Given the description of an element on the screen output the (x, y) to click on. 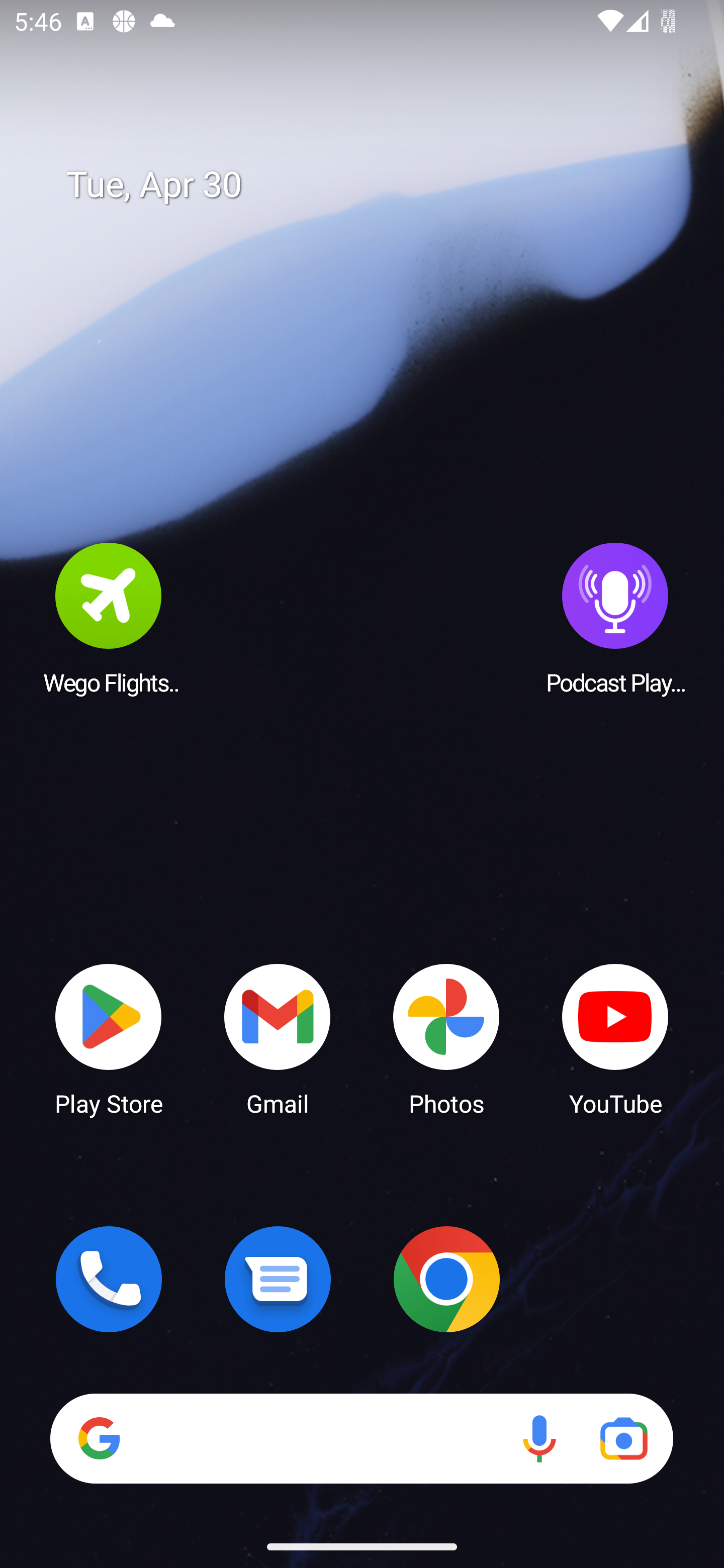
Tue, Apr 30 (375, 184)
Wego Flights & Hotels (108, 617)
Podcast Player (615, 617)
Play Store (108, 1038)
Gmail (277, 1038)
Photos (445, 1038)
YouTube (615, 1038)
Phone (108, 1279)
Messages (277, 1279)
Chrome (446, 1279)
Voice search (539, 1438)
Google Lens (623, 1438)
